Given the description of an element on the screen output the (x, y) to click on. 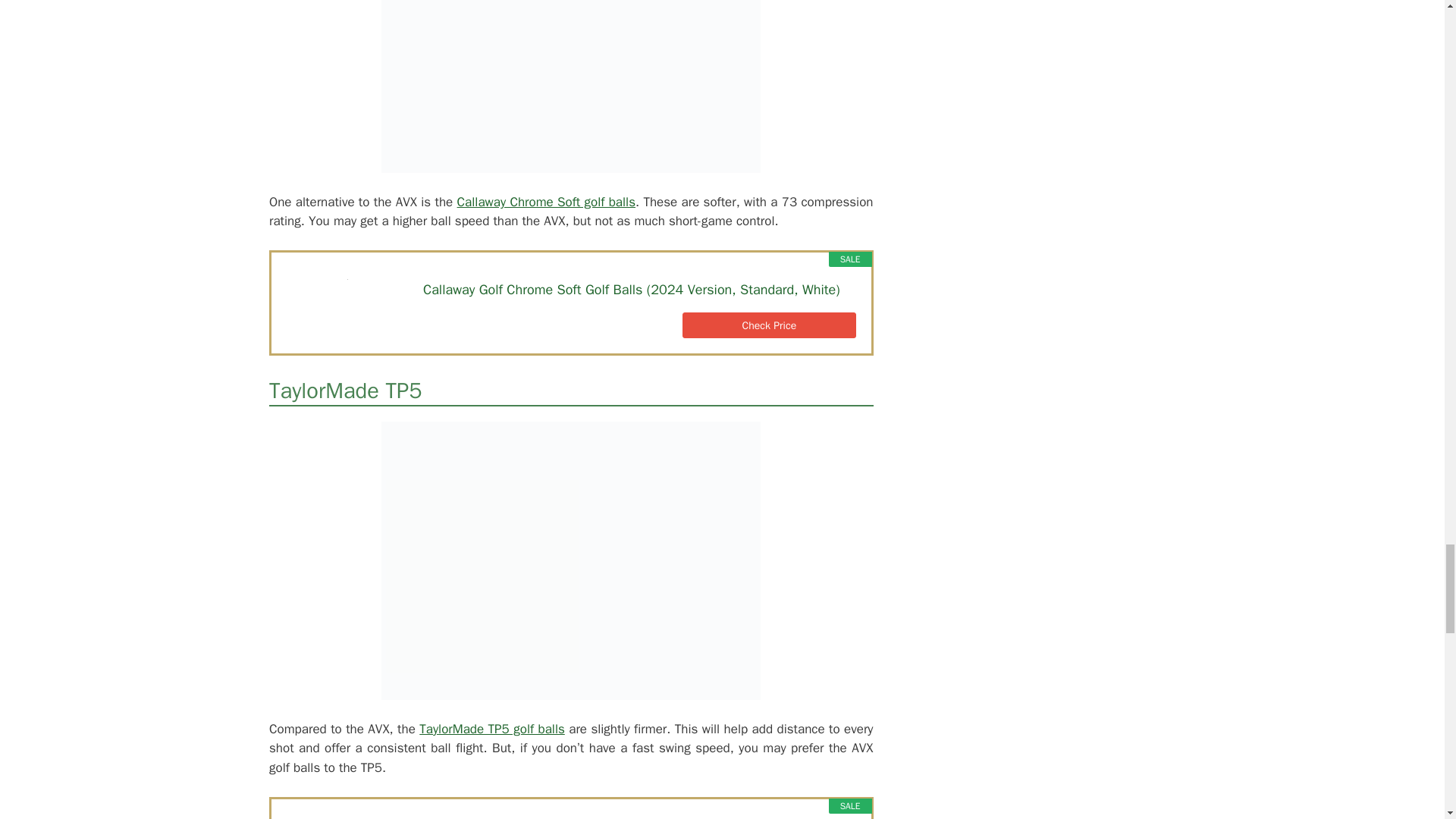
Check Price (769, 325)
